Given the description of an element on the screen output the (x, y) to click on. 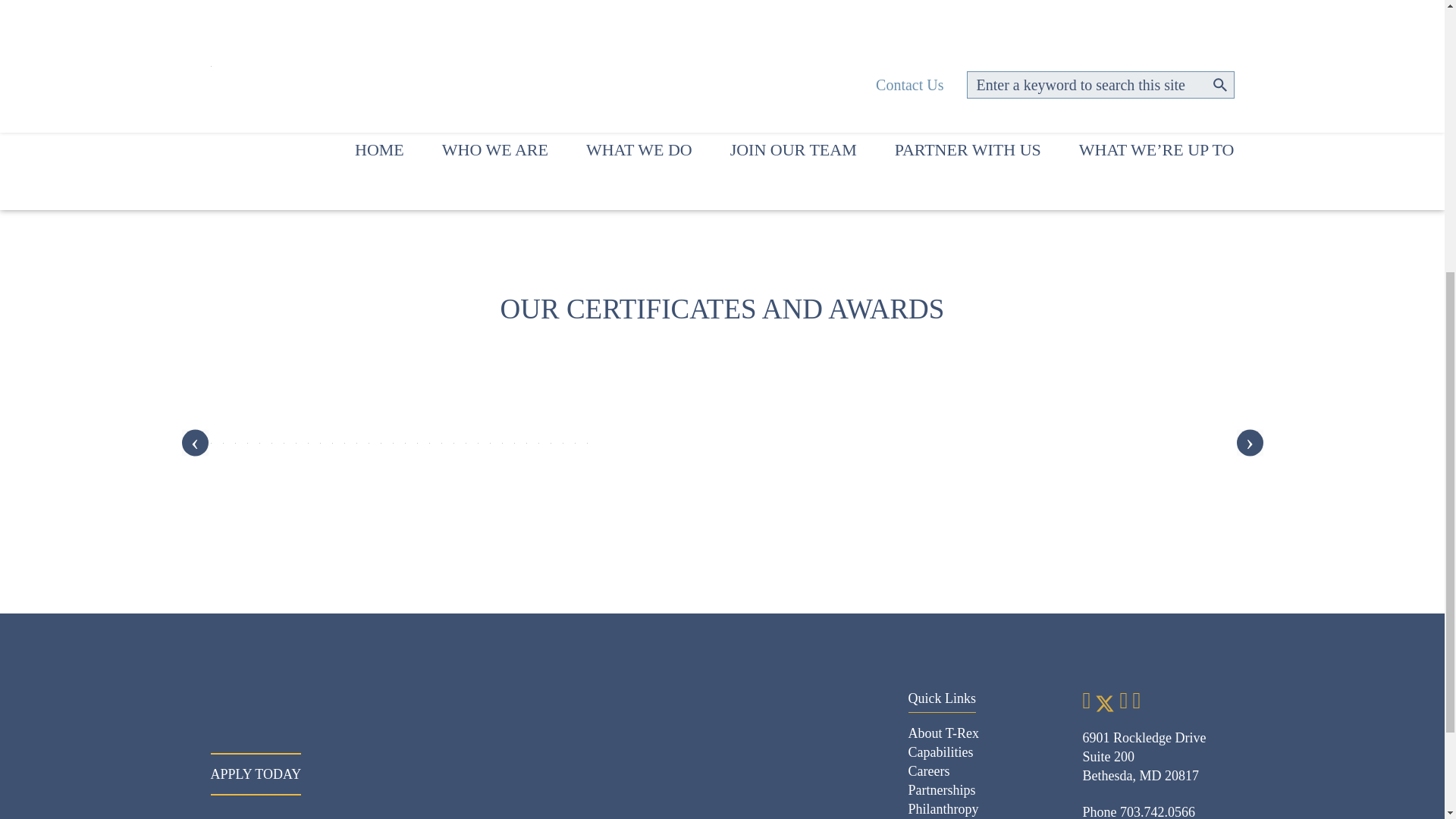
Philanthropy (943, 808)
About T-Rex (943, 733)
APPLY TODAY (256, 773)
Partnerships (941, 789)
Capabilities (941, 752)
Careers (929, 770)
